Given the description of an element on the screen output the (x, y) to click on. 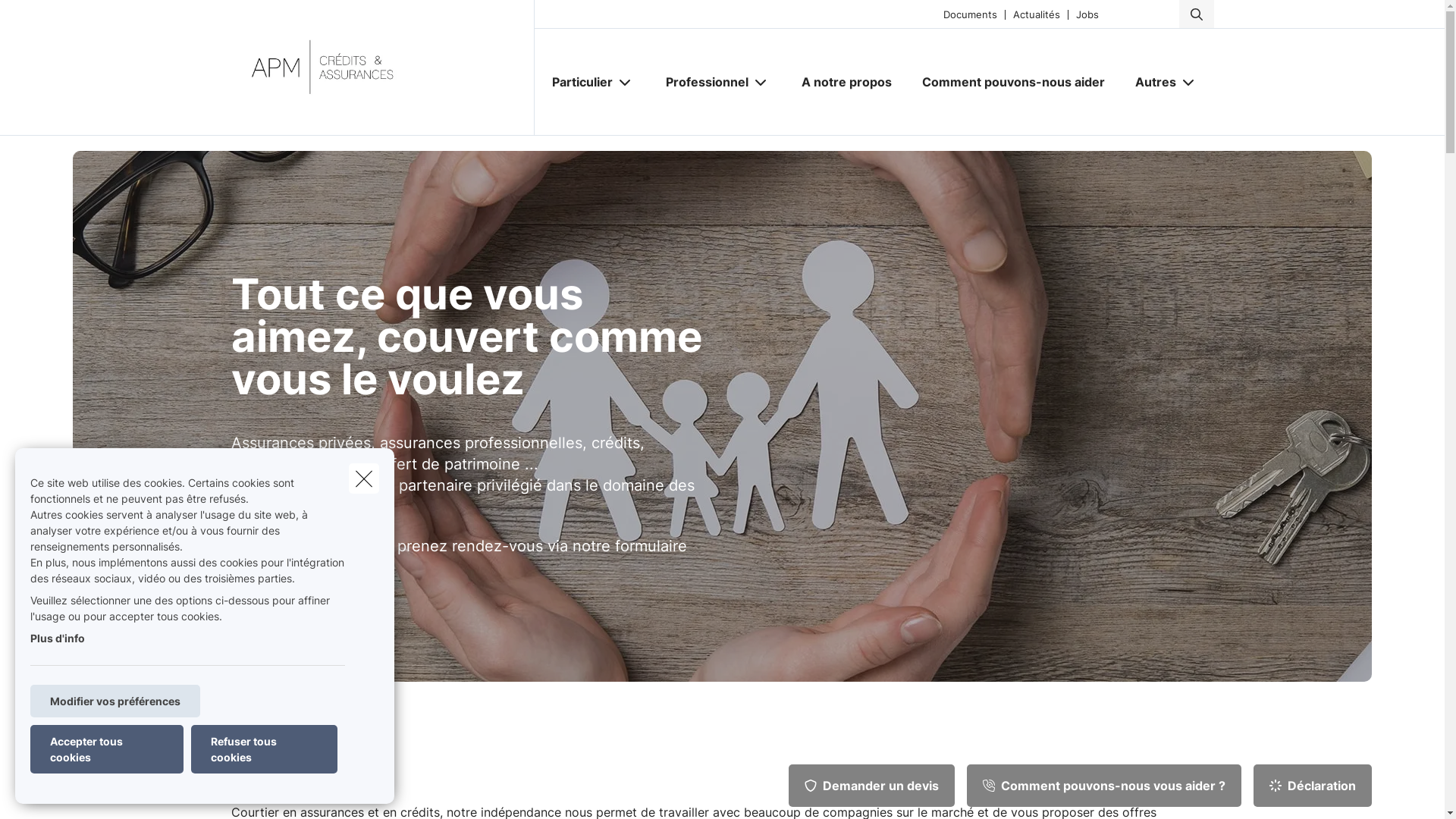
Jobs Element type: text (1086, 13)
Comment pouvons-nous vous aider ? Element type: text (1103, 785)
Refuser tous cookies Element type: text (264, 748)
Demander un devis Element type: text (871, 785)
Particulier Element type: text (576, 81)
A notre propos Element type: text (845, 81)
Documents Element type: text (969, 13)
Comment pouvons-nous aider Element type: text (1013, 81)
Autres Element type: text (1149, 81)
Professionnel Element type: text (701, 81)
Plus d'info Element type: text (57, 637)
Rechercher Element type: text (54, 18)
Accepter tous cookies Element type: text (106, 748)
